Given the description of an element on the screen output the (x, y) to click on. 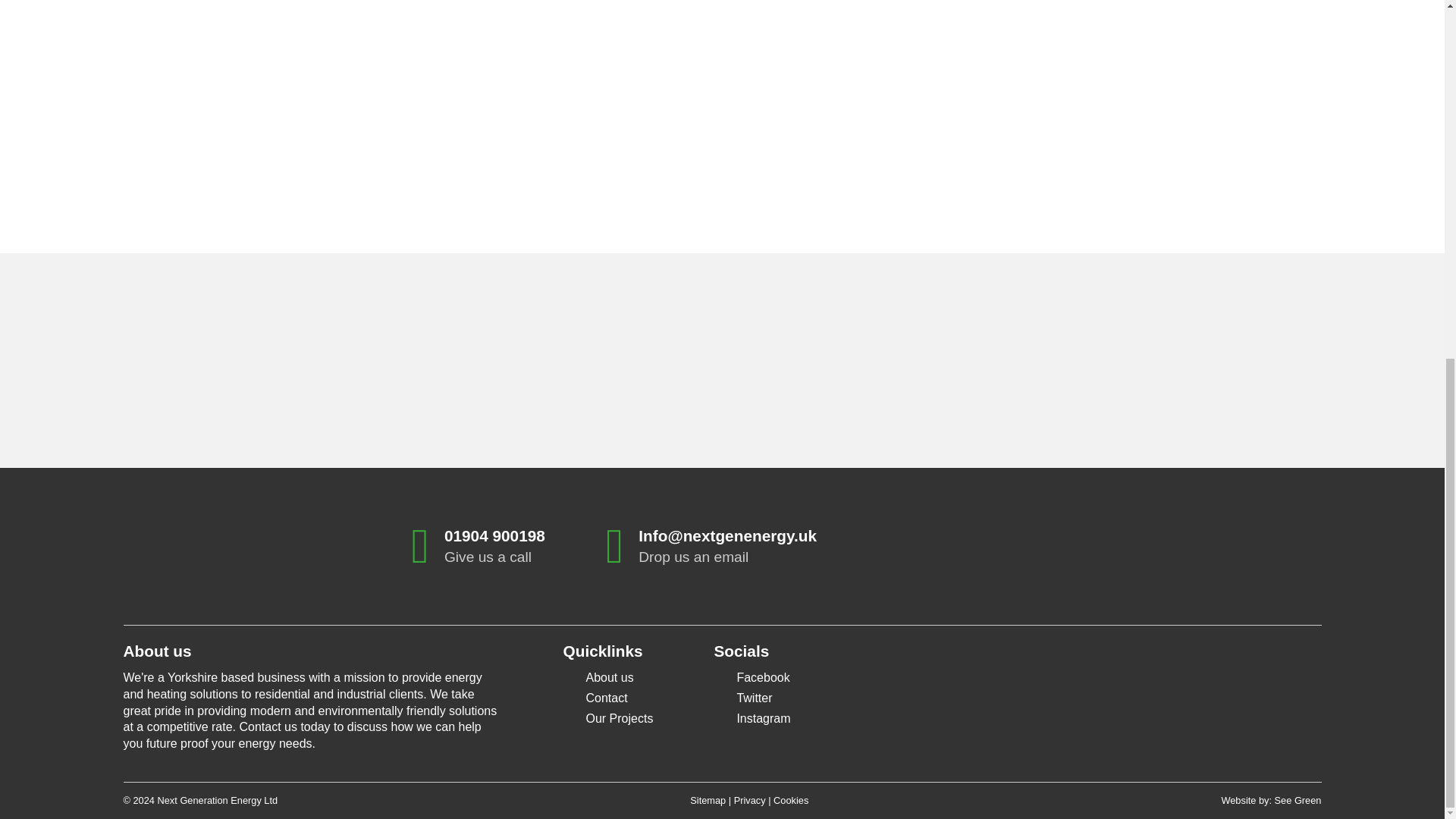
Facebook (762, 676)
Privacy (749, 799)
Website by: See Green (1270, 799)
Twitter (753, 697)
Our Projects (618, 717)
Contact (606, 697)
Cookies (790, 799)
Sitemap (707, 799)
Instagram (763, 717)
About us (609, 676)
01904 900198 (494, 535)
